Given the description of an element on the screen output the (x, y) to click on. 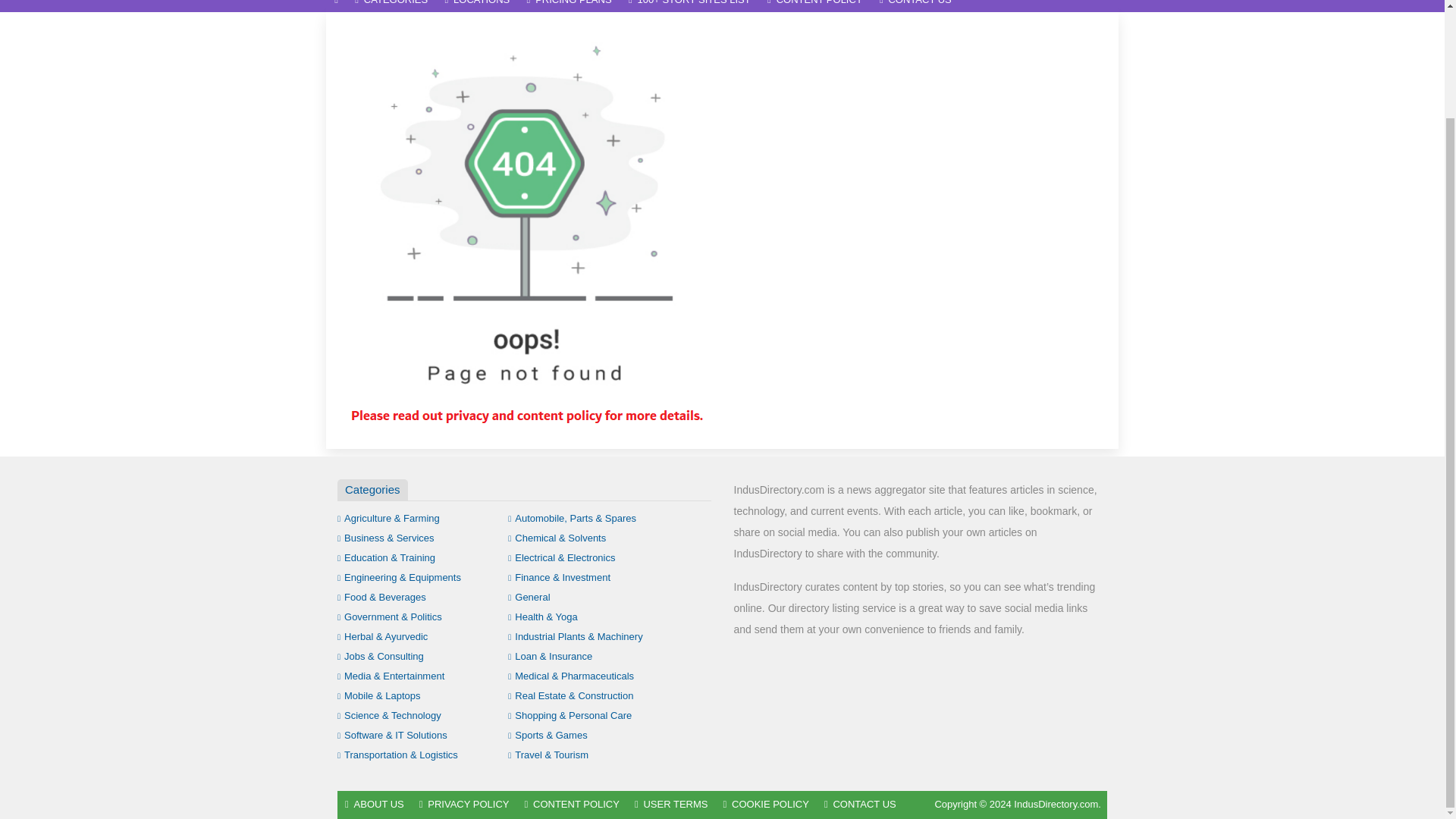
PRICING PLANS (569, 6)
CATEGORIES (390, 6)
HOME (336, 6)
LOCATIONS (476, 6)
General (529, 596)
CONTACT US (914, 6)
CONTENT POLICY (814, 6)
